Given the description of an element on the screen output the (x, y) to click on. 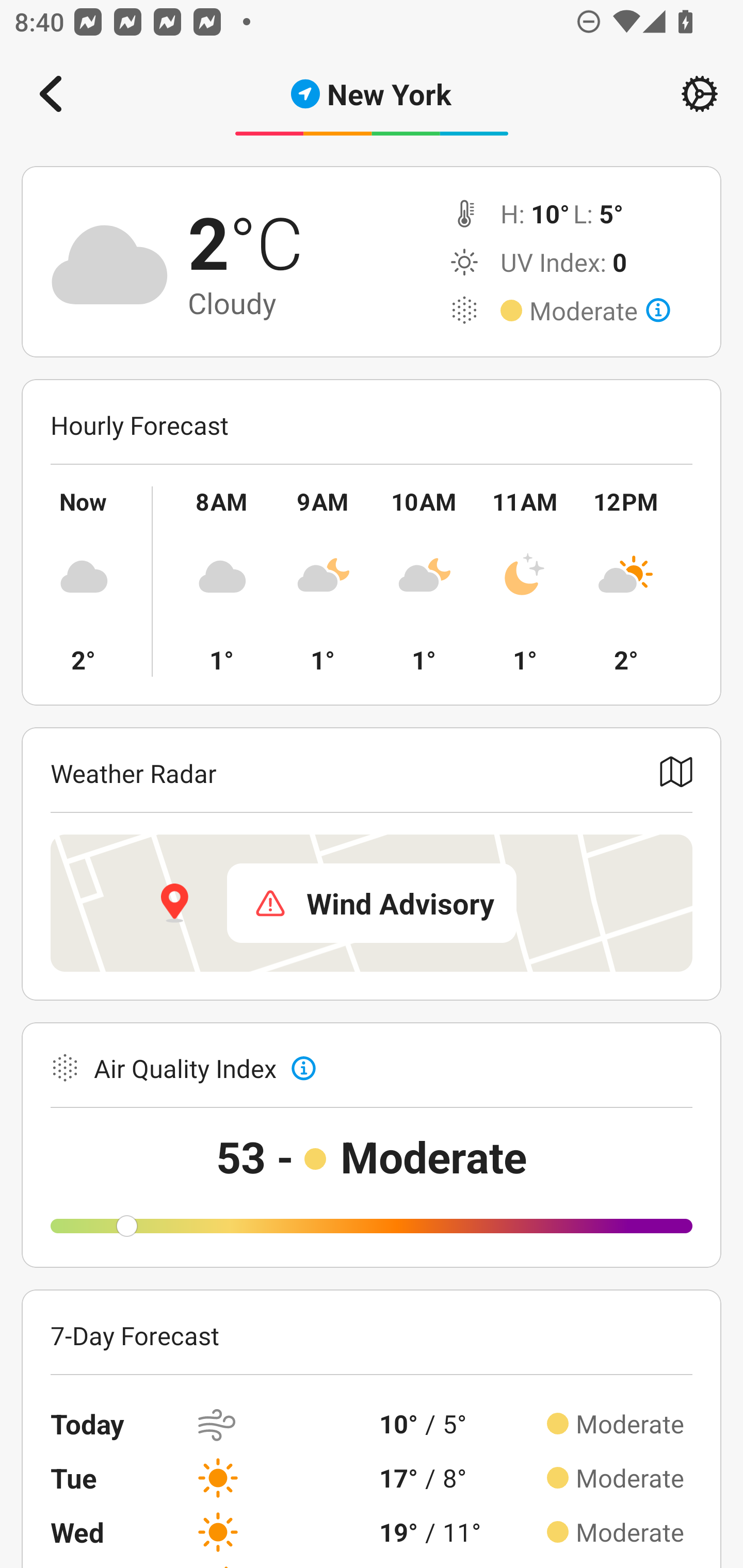
Navigate up (50, 93)
Setting (699, 93)
Moderate (599, 310)
Wind Advisory (371, 903)
